Given the description of an element on the screen output the (x, y) to click on. 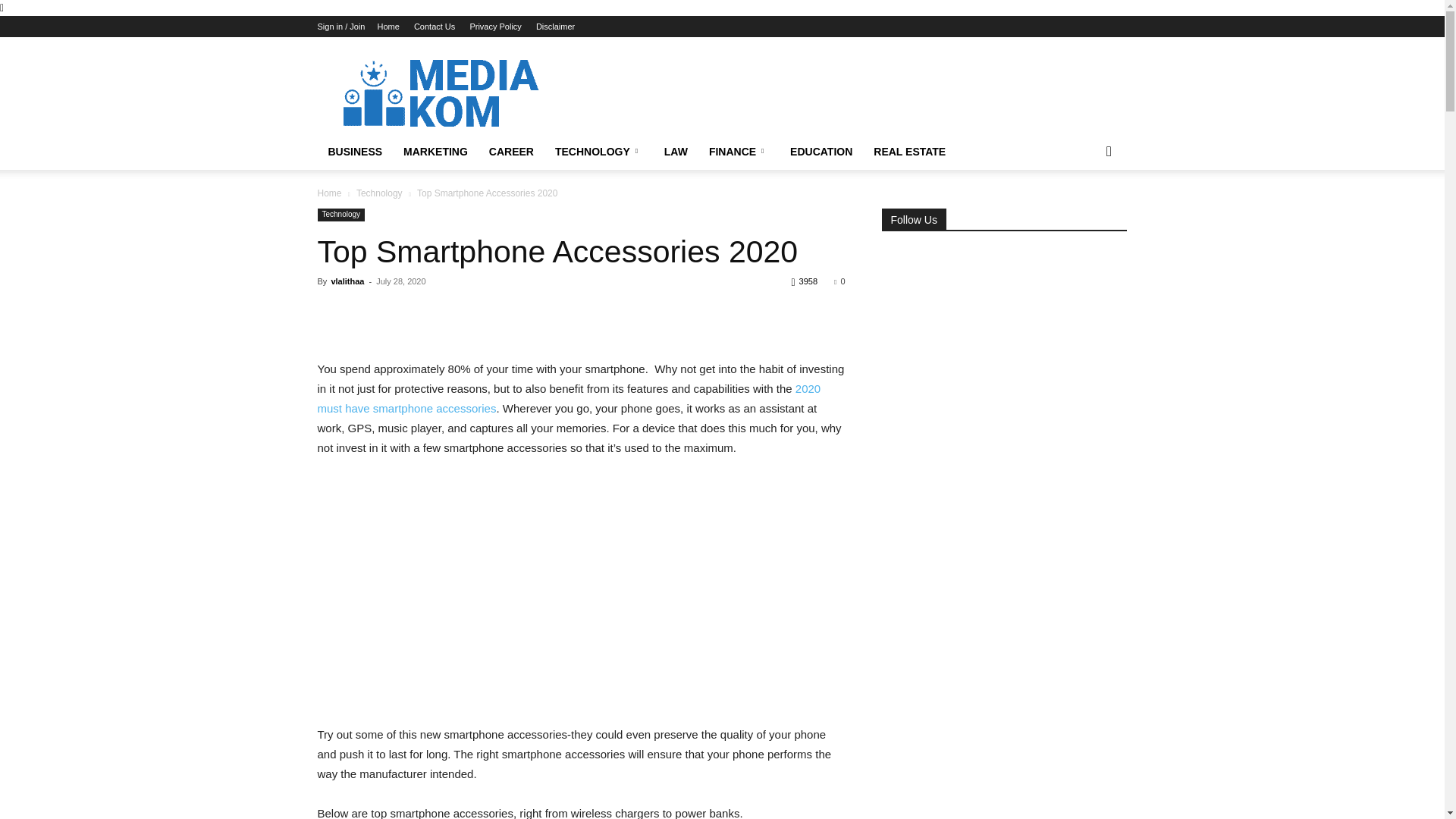
CAREER (511, 151)
Contact Us (433, 26)
View all posts in Technology (379, 193)
TECHNOLOGY (598, 151)
MARKETING (436, 151)
BUSINESS (355, 151)
Disclaimer (555, 26)
LAW (675, 151)
REAL ESTATE (909, 151)
Privacy Policy (494, 26)
